Given the description of an element on the screen output the (x, y) to click on. 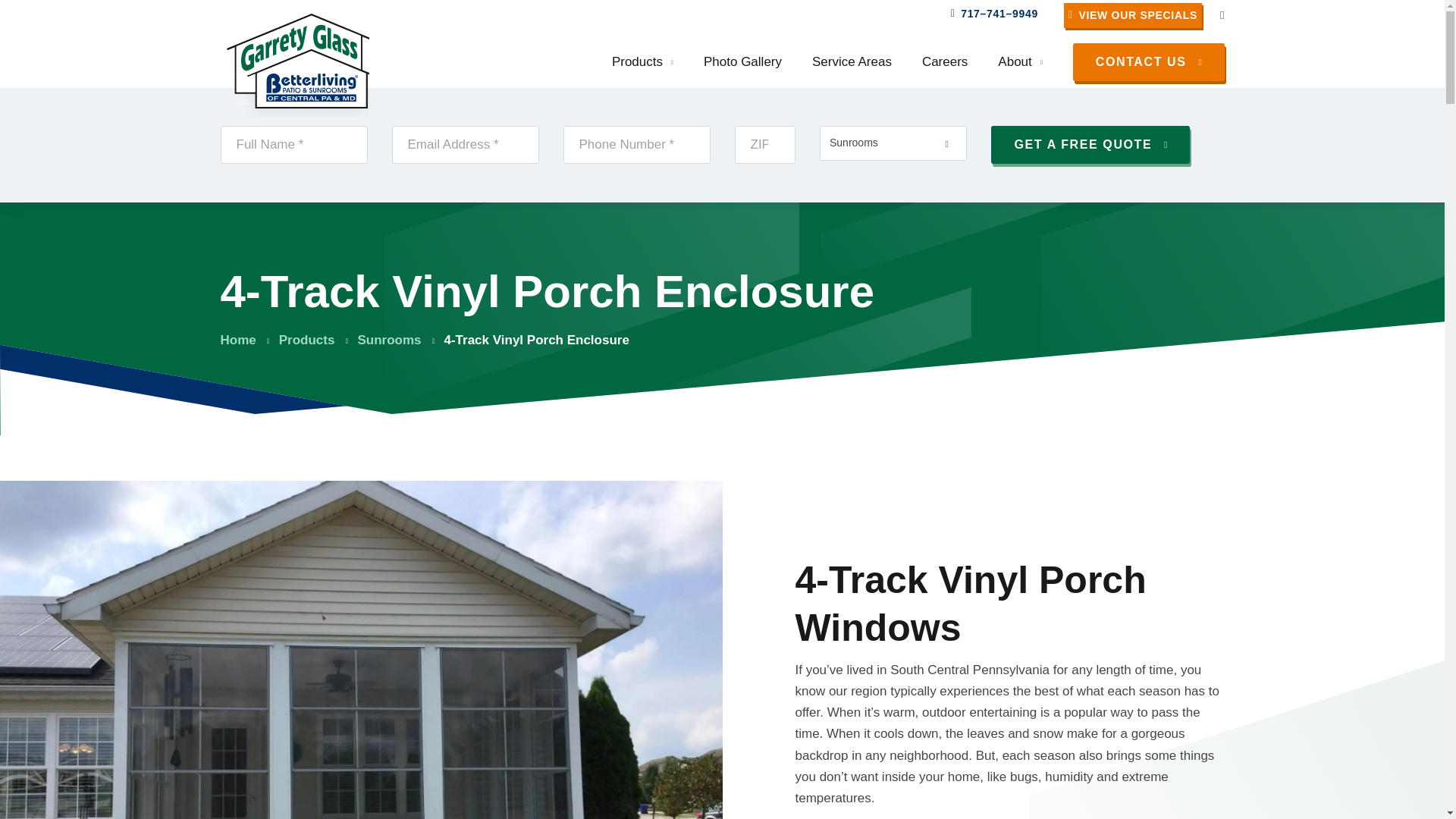
Home (237, 339)
Sunrooms (388, 339)
Products (306, 339)
CONTACT US (1148, 62)
Products (641, 61)
Service Areas (851, 61)
Photo Gallery (742, 61)
VIEW OUR SPECIALS (1133, 15)
GET A FREE QUOTE (827, 61)
